Given the description of an element on the screen output the (x, y) to click on. 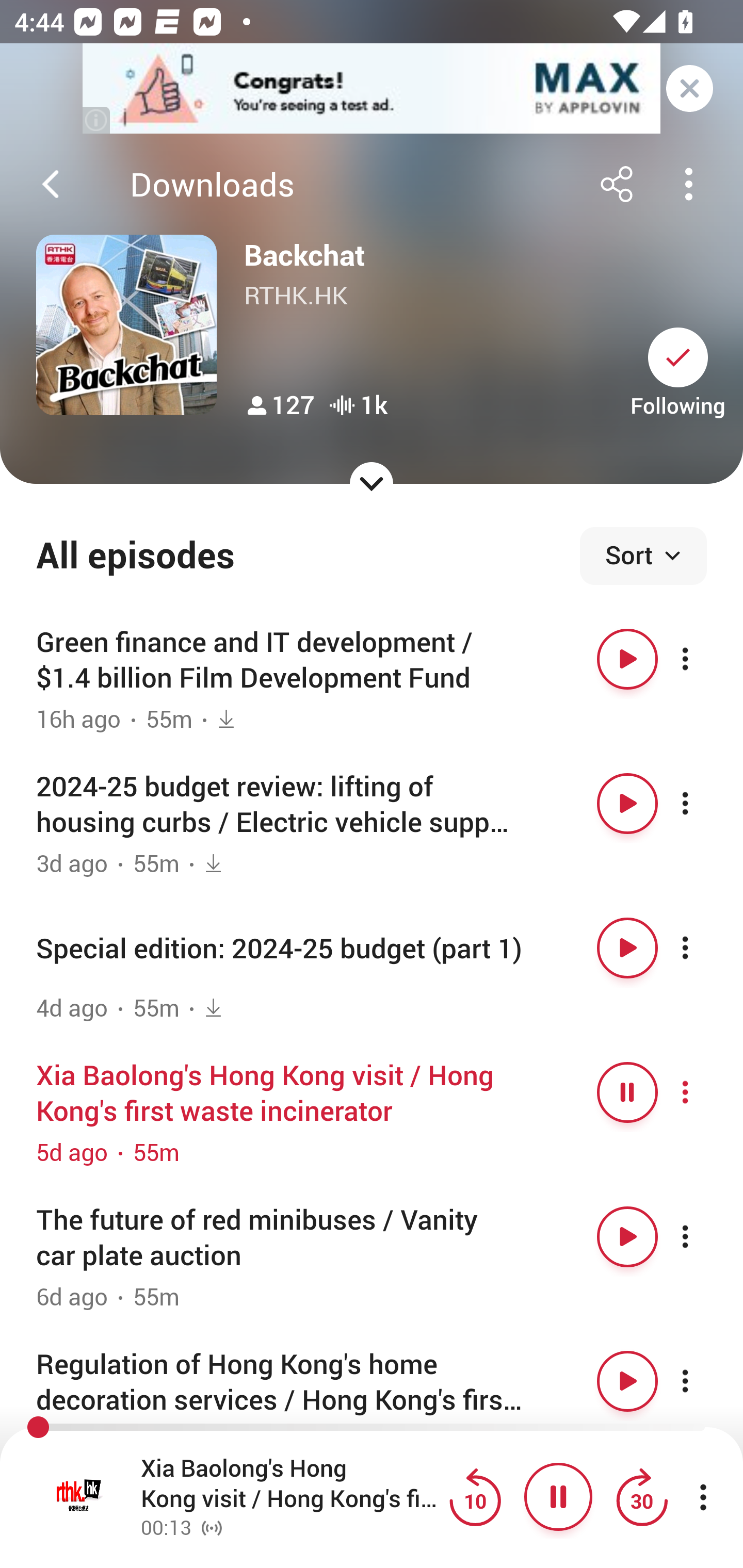
app-monetization (371, 88)
(i) (96, 119)
Back (50, 184)
Unsubscribe button (677, 357)
Sort episodes Sort (643, 555)
Play button (627, 659)
More options (703, 659)
Play button (627, 803)
More options (703, 803)
Play button (627, 947)
More options (703, 947)
Pause button (627, 1092)
More options (703, 1092)
Play button (627, 1236)
More options (703, 1236)
Play button (627, 1381)
More options (703, 1381)
Open fullscreen player (79, 1497)
More player controls (703, 1497)
Pause button (558, 1496)
Jump back (475, 1497)
Jump forward (641, 1497)
